Given the description of an element on the screen output the (x, y) to click on. 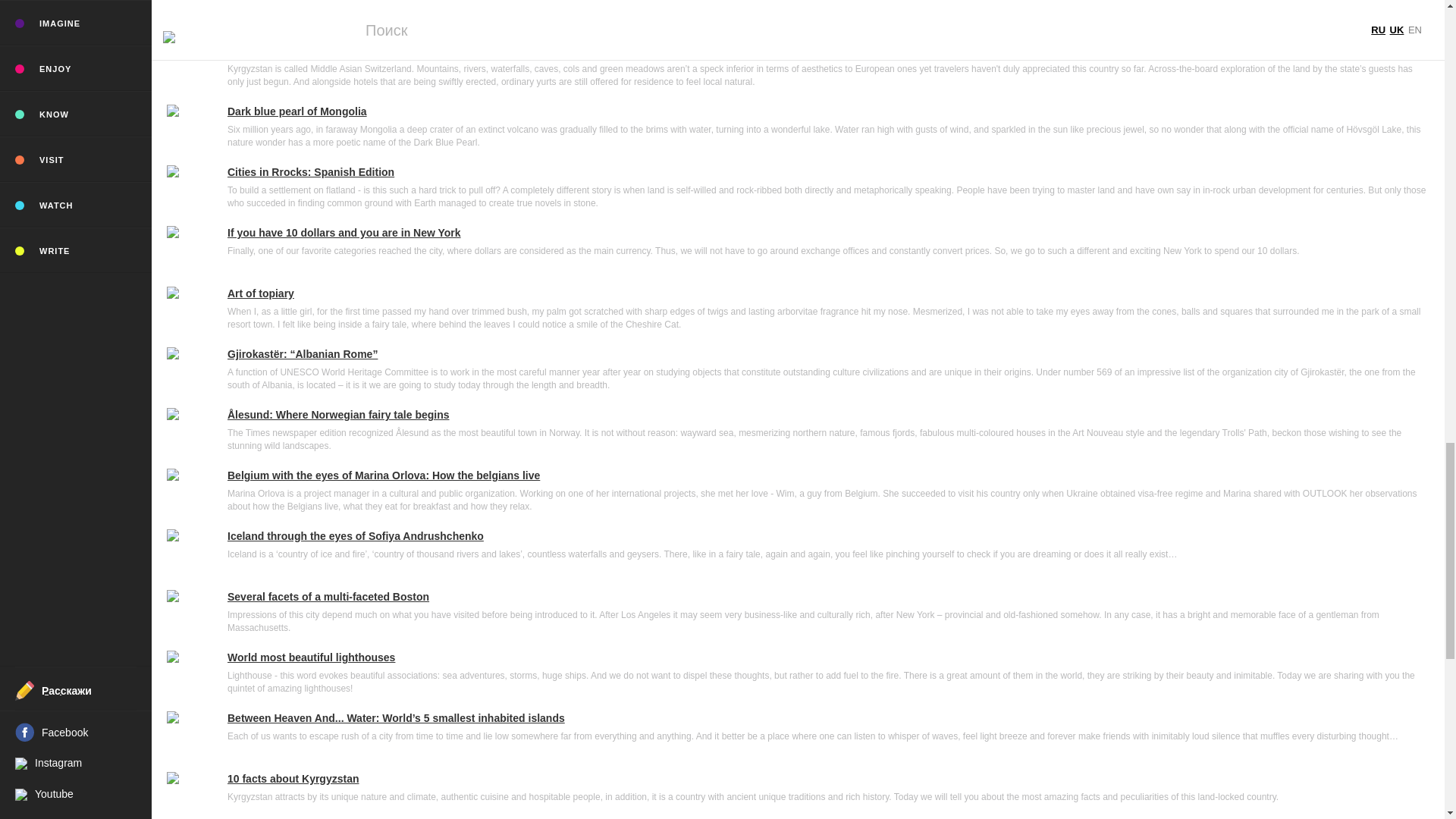
If you have 10 dollars and you are in New York (828, 233)
Cities in Rrocks: Spanish Edition (828, 172)
Dark blue pearl of Mongolia (828, 111)
Departure: Kyrgyzstan (828, 51)
Art of topiary (828, 294)
